Given the description of an element on the screen output the (x, y) to click on. 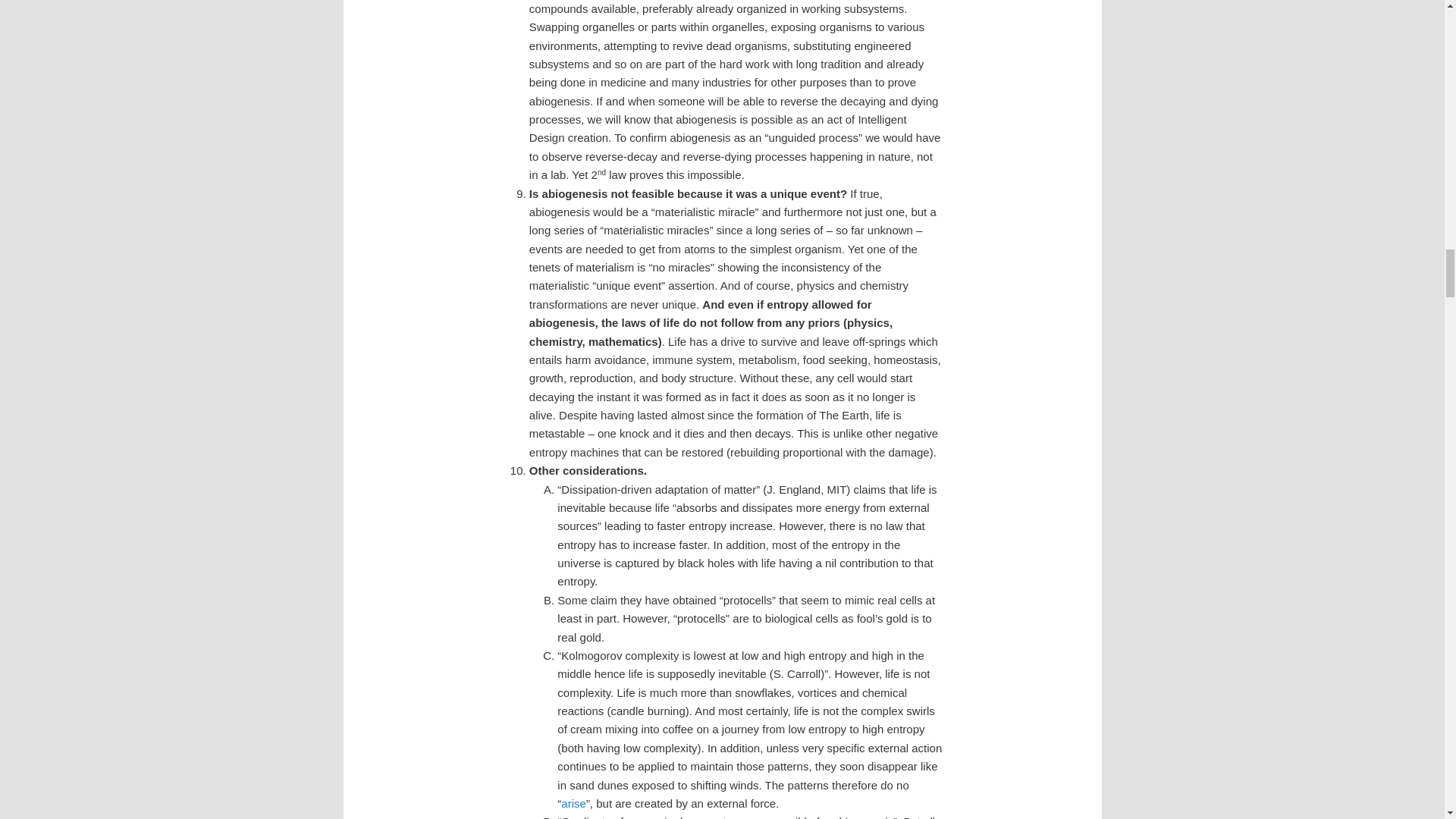
arise (573, 802)
